Given the description of an element on the screen output the (x, y) to click on. 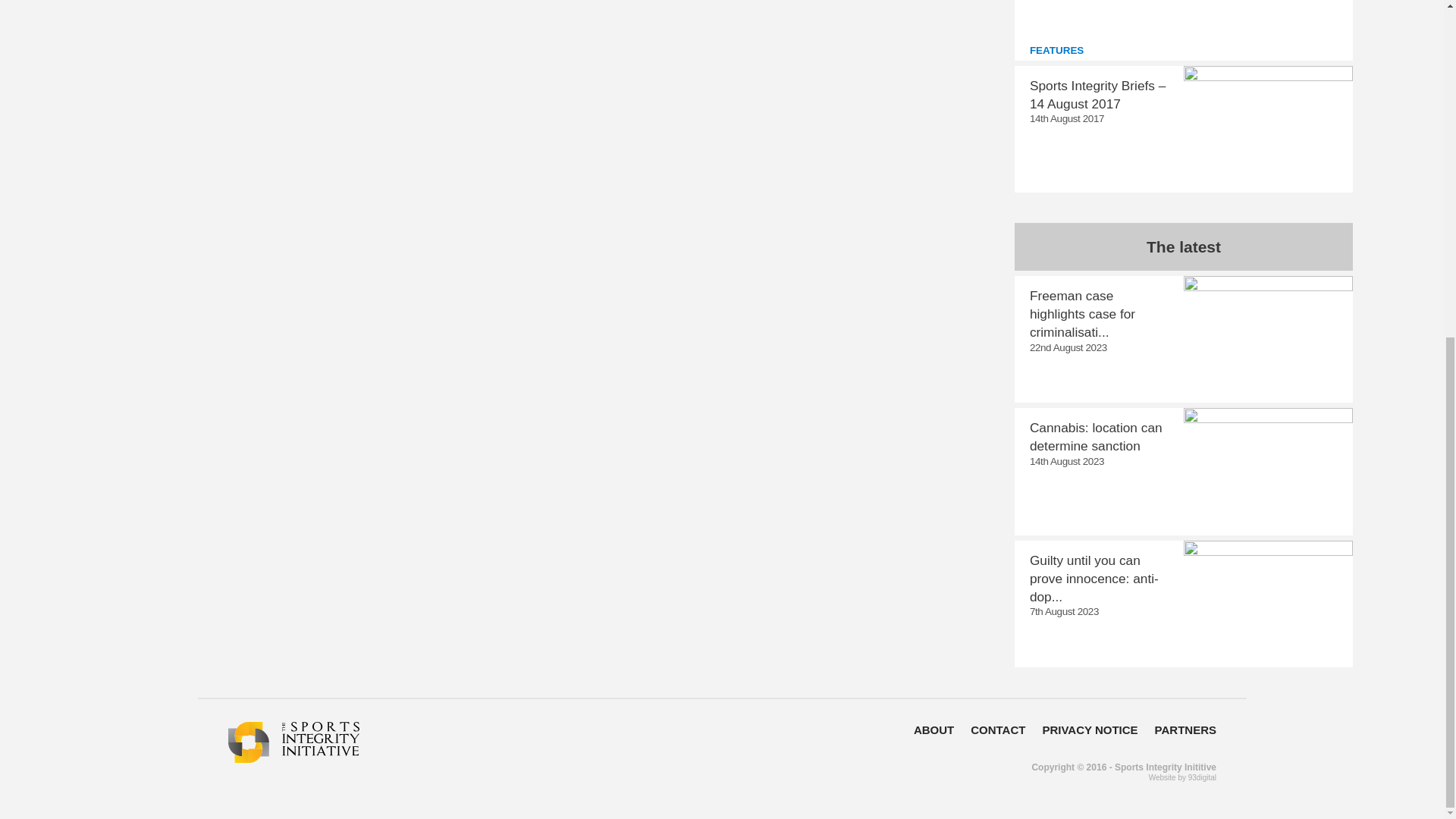
ABOUT (933, 730)
